Given the description of an element on the screen output the (x, y) to click on. 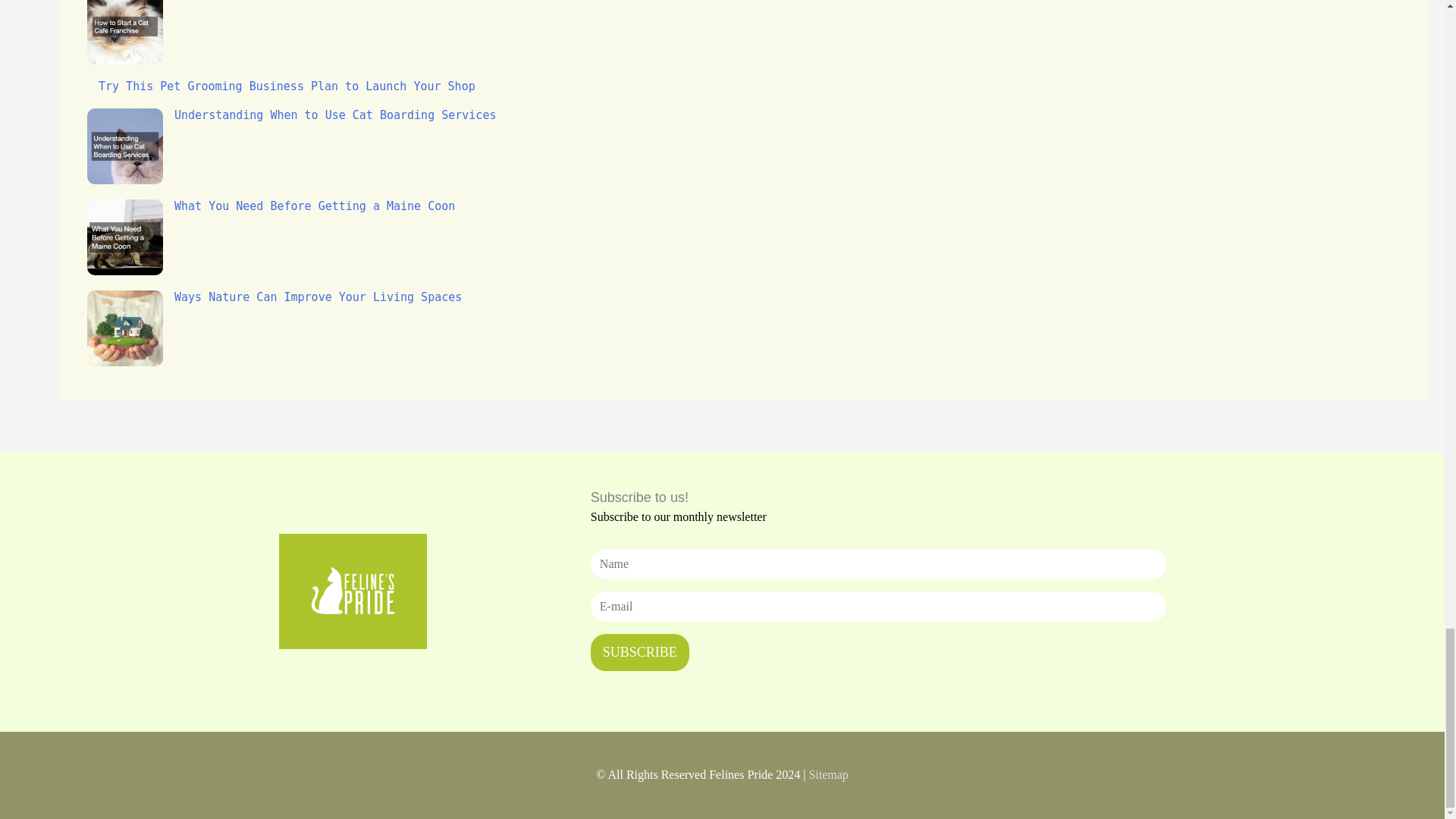
What You Need Before Getting a Maine Coon (314, 205)
Try This Pet Grooming Business Plan to Launch Your Shop (287, 86)
SUBSCRIBE (639, 651)
Ways Nature Can Improve Your Living Spaces (317, 296)
Understanding When to Use Cat Boarding Services (335, 115)
Sitemap (827, 774)
